Given the description of an element on the screen output the (x, y) to click on. 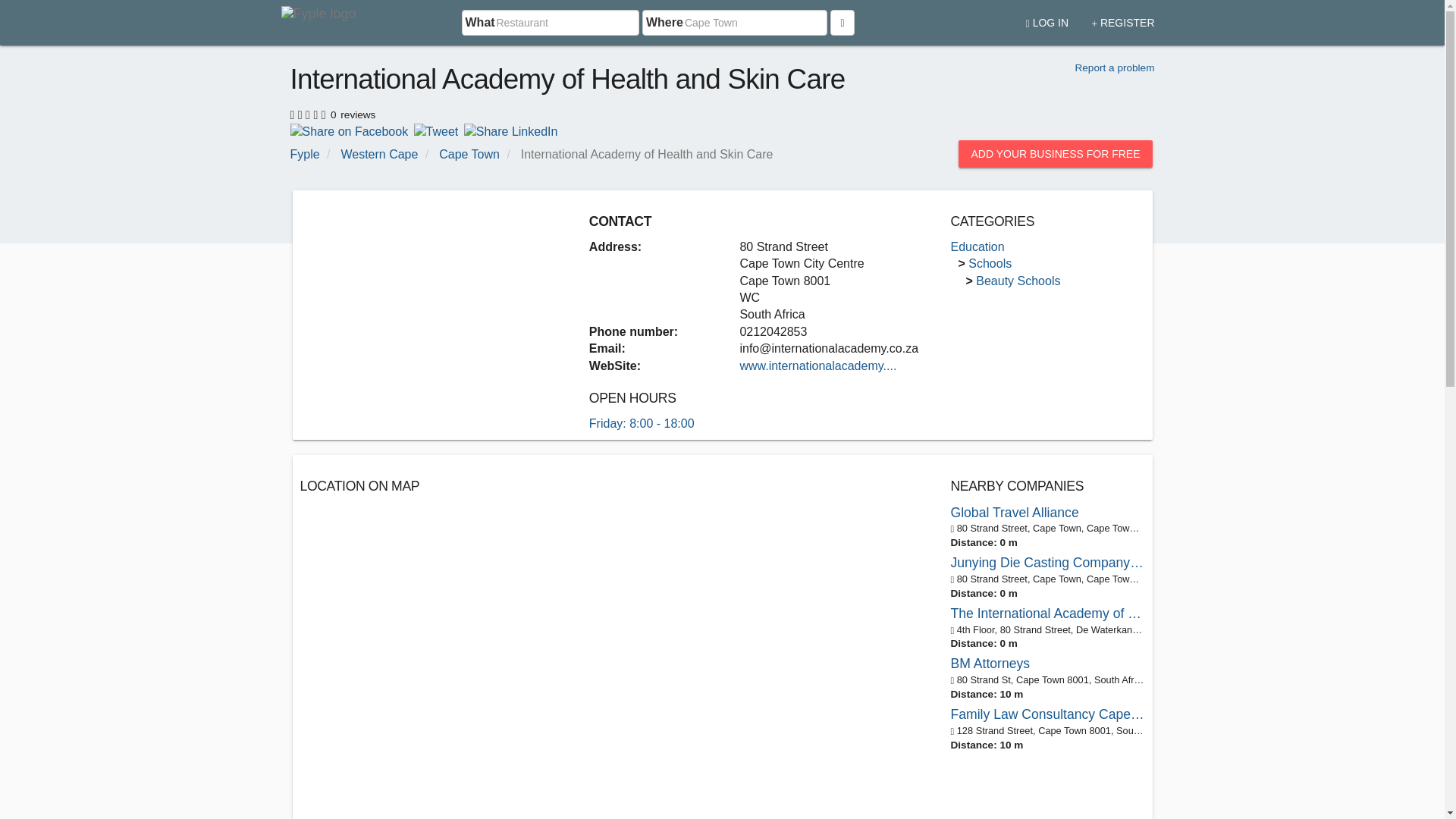
Family Law Consultancy Cape Town (1047, 714)
Location on map (469, 624)
Tweet (435, 130)
The International Academy of Health and Skin Care (1047, 613)
www.internationalacademy.... (817, 365)
Beauty Schools (1017, 280)
Global Travel Alliance (1047, 512)
Share on Facebook (348, 130)
Education (977, 246)
Share on LinkedIn (510, 130)
Friday: 8:00 - 18:00 (641, 422)
ADD YOUR BUSINESS FOR FREE (1054, 153)
Home page (320, 22)
Report a problem (1114, 67)
Fyple (303, 154)
